Given the description of an element on the screen output the (x, y) to click on. 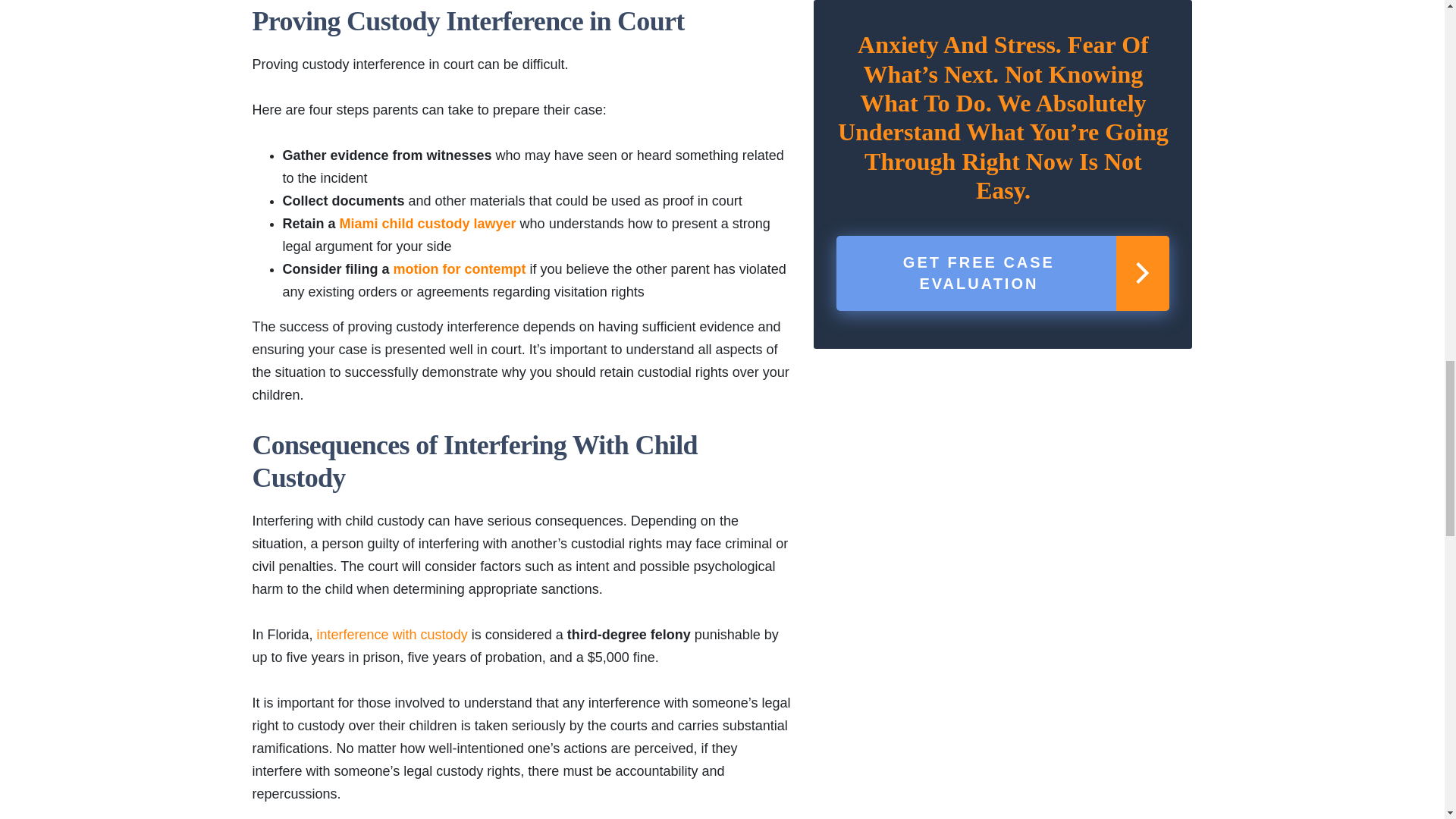
Miami child custody lawyer (427, 223)
interference with custody (392, 634)
motion for contempt (459, 268)
